Given the description of an element on the screen output the (x, y) to click on. 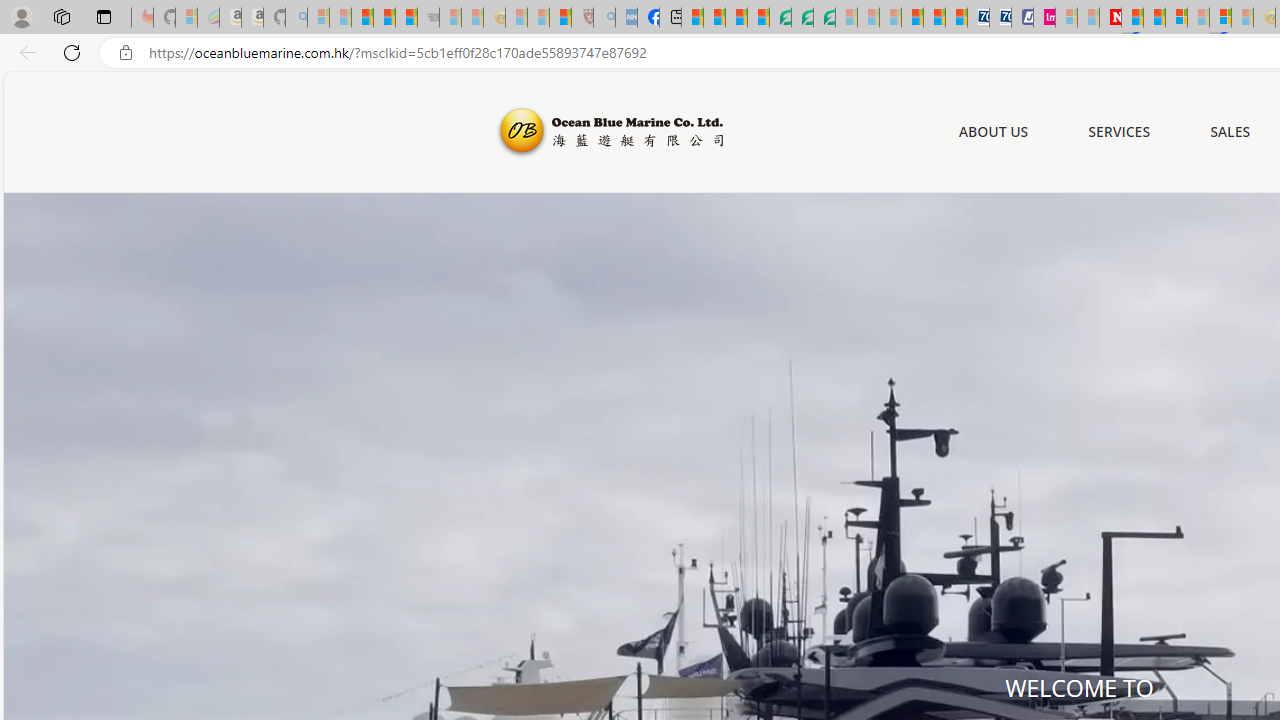
Jobs - lastminute.com Investor Portal (1044, 17)
Terms of Use Agreement (802, 17)
